Given the description of an element on the screen output the (x, y) to click on. 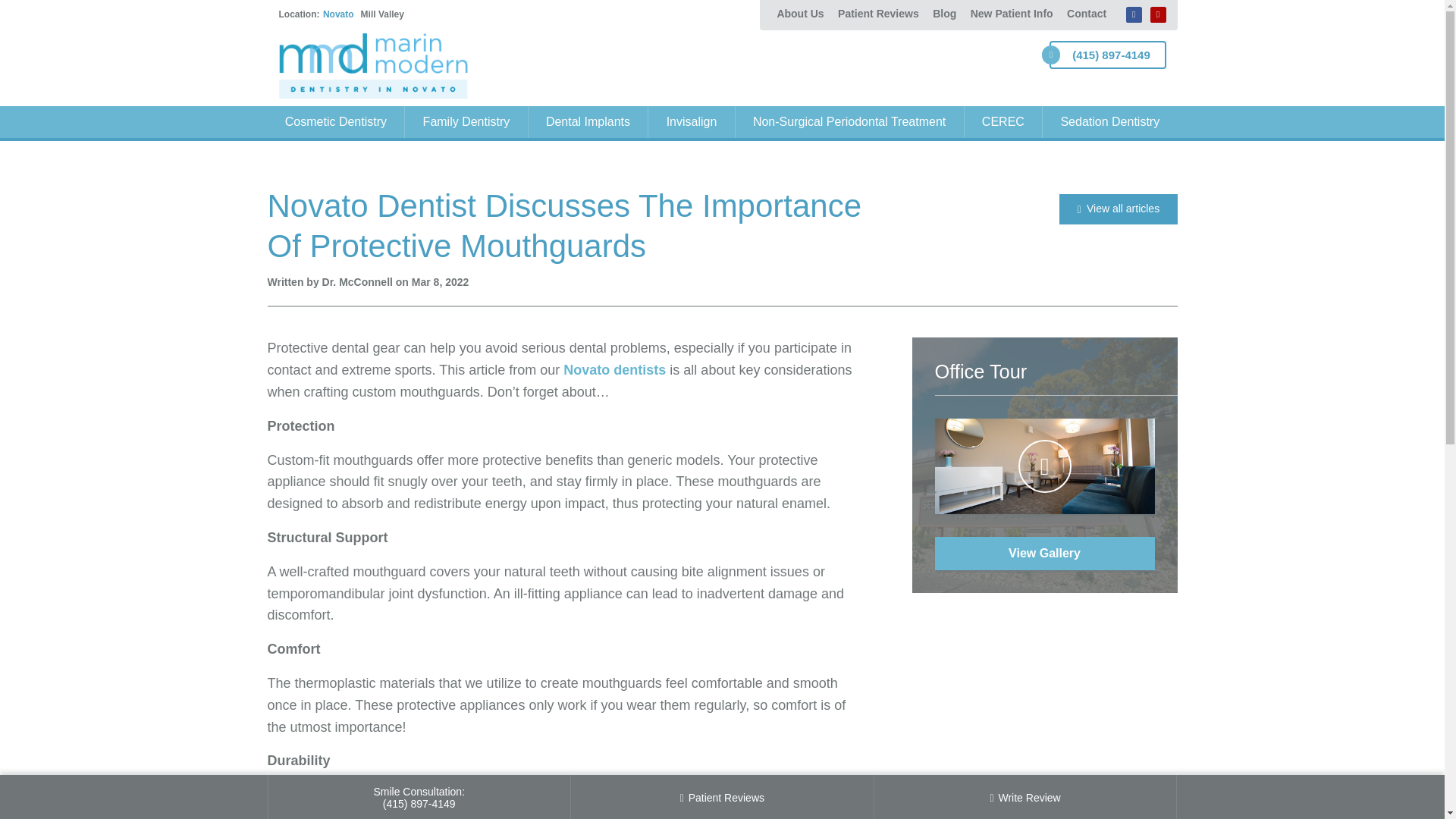
Patient Reviews (878, 13)
View Gallery (1044, 553)
Cosmetic Dentistry (335, 122)
Blog (943, 13)
New Patient Info (1011, 13)
About Us (799, 13)
Contact (1083, 13)
Dental Implants (588, 122)
yelp (1158, 14)
Novato dentists (614, 369)
Novato (338, 14)
Sedation Dentistry (1109, 122)
View all articles (1117, 209)
facebook (1133, 14)
Family Dentistry (465, 122)
